Given the description of an element on the screen output the (x, y) to click on. 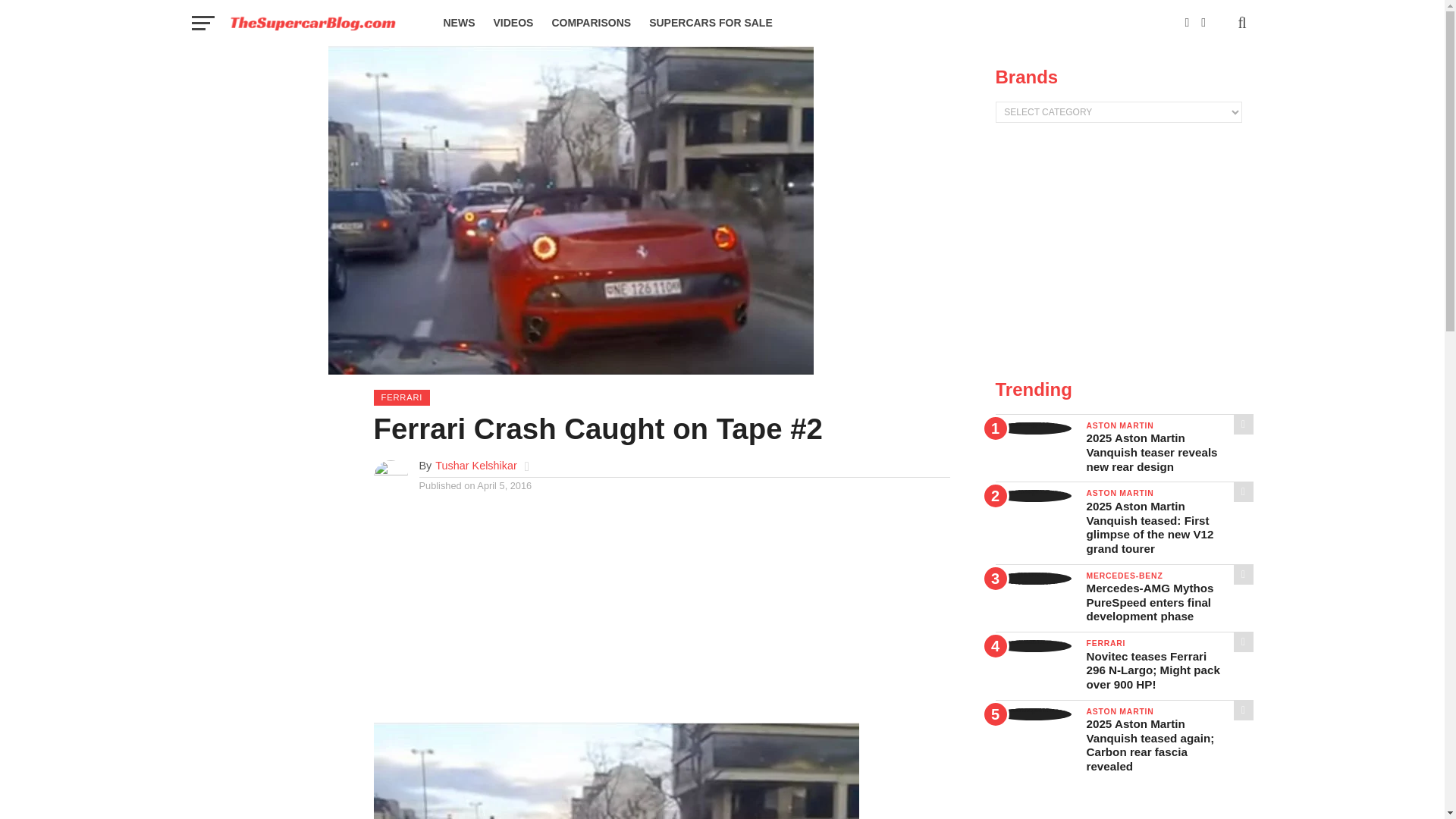
Posts by Tushar Kelshikar (475, 465)
NEWS (458, 22)
Tushar Kelshikar (475, 465)
VIDEOS (512, 22)
SUPERCARS FOR SALE (710, 22)
COMPARISONS (590, 22)
